Given the description of an element on the screen output the (x, y) to click on. 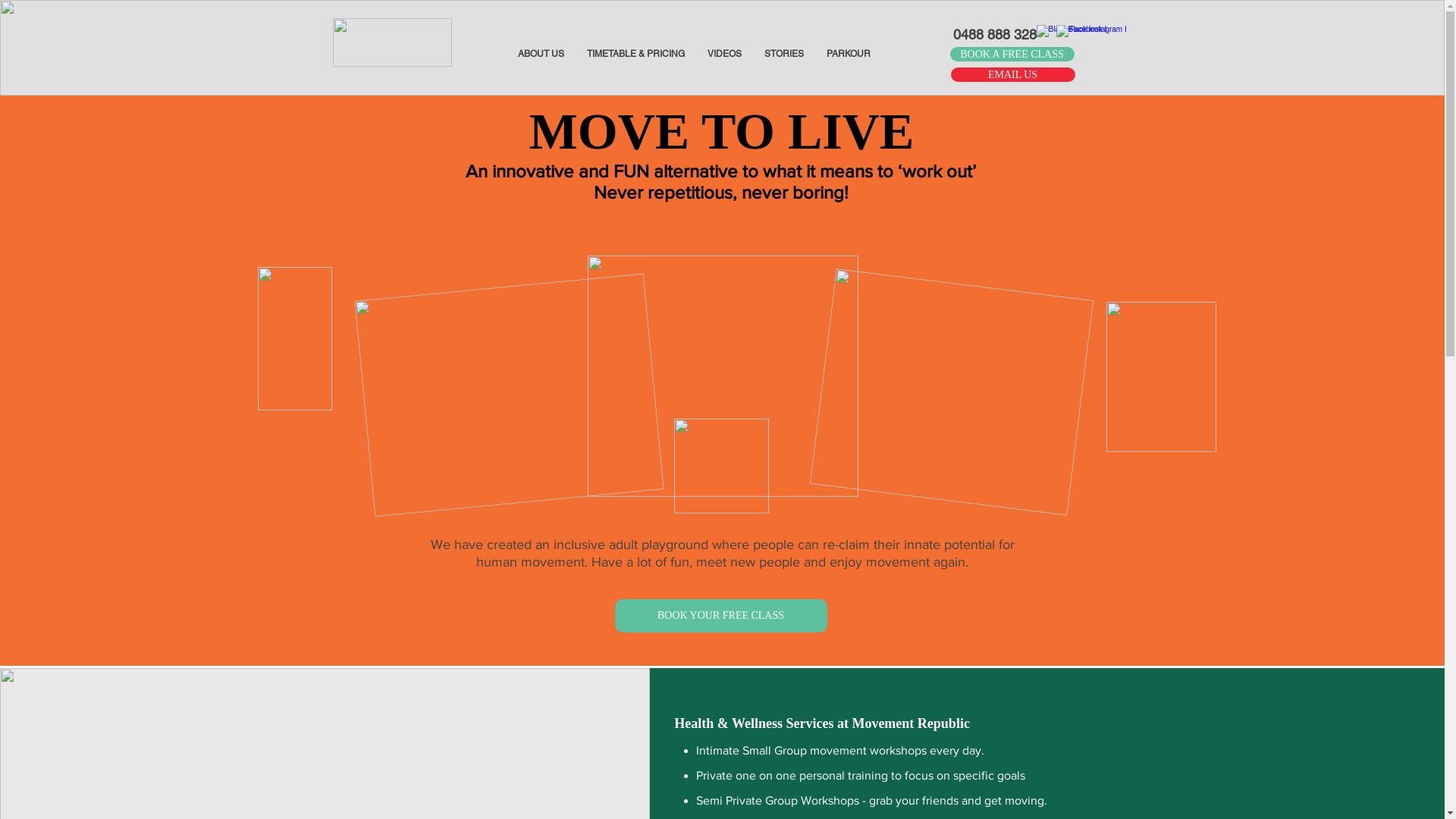
ABOUT US Element type: text (540, 53)
VIDEOS Element type: text (724, 53)
TIMETABLE & PRICING Element type: text (634, 53)
STORIES Element type: text (783, 53)
BOOK YOUR FREE CLASS Element type: text (720, 615)
EMAIL US Element type: text (1012, 74)
PARKOUR Element type: text (847, 53)
BOOK A FREE CLASS Element type: text (1011, 54)
